Given the description of an element on the screen output the (x, y) to click on. 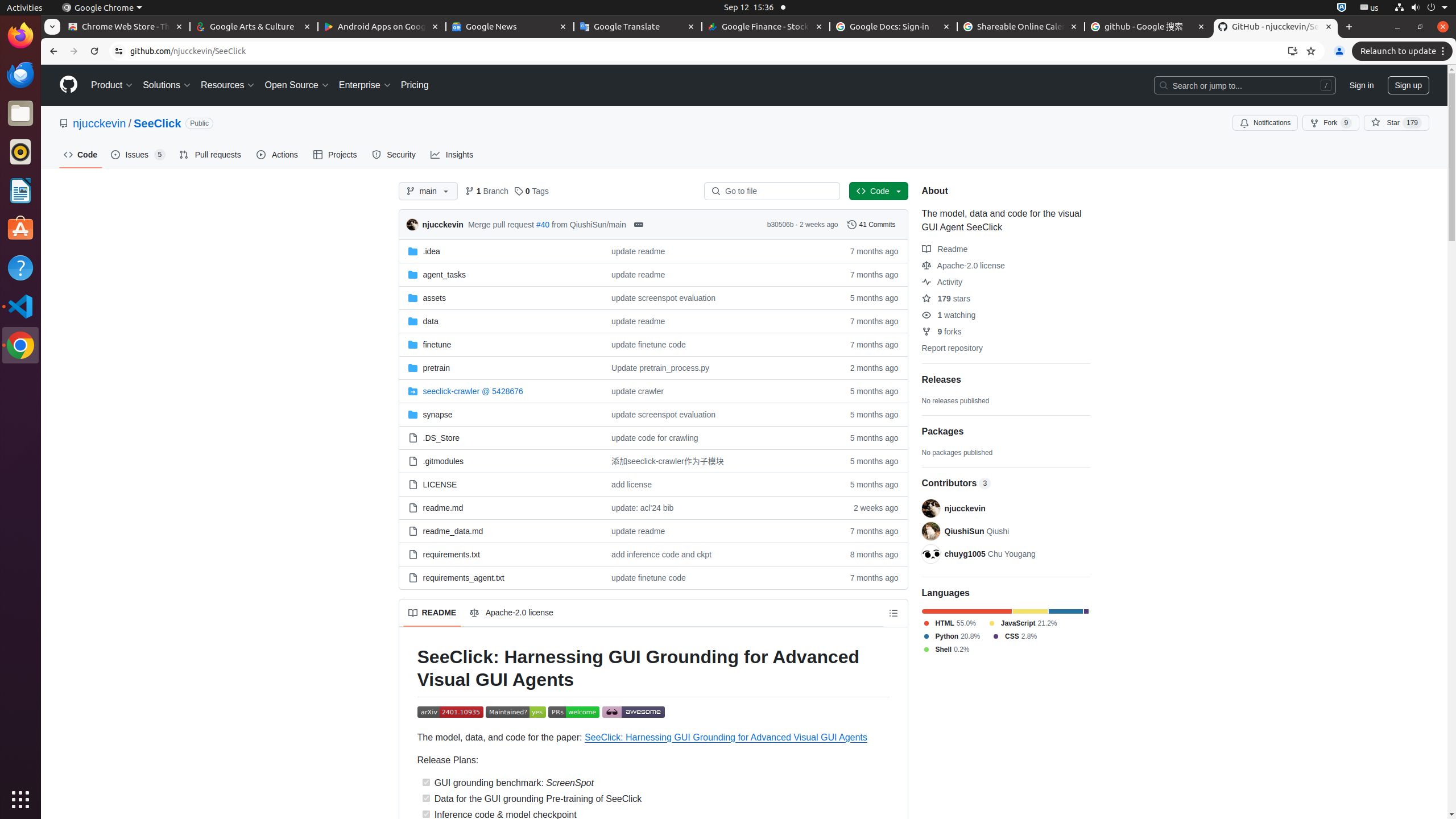
Bookmark this tab Element type: push-button (1310, 51)
Sign in Element type: link (1361, 85)
SeeClick: Harnessing GUI Grounding for Advanced Visual GUI Agents Element type: link (725, 736)
finetune, (Directory) Element type: table-cell (500, 344)
Actions Element type: link (277, 154)
